Given the description of an element on the screen output the (x, y) to click on. 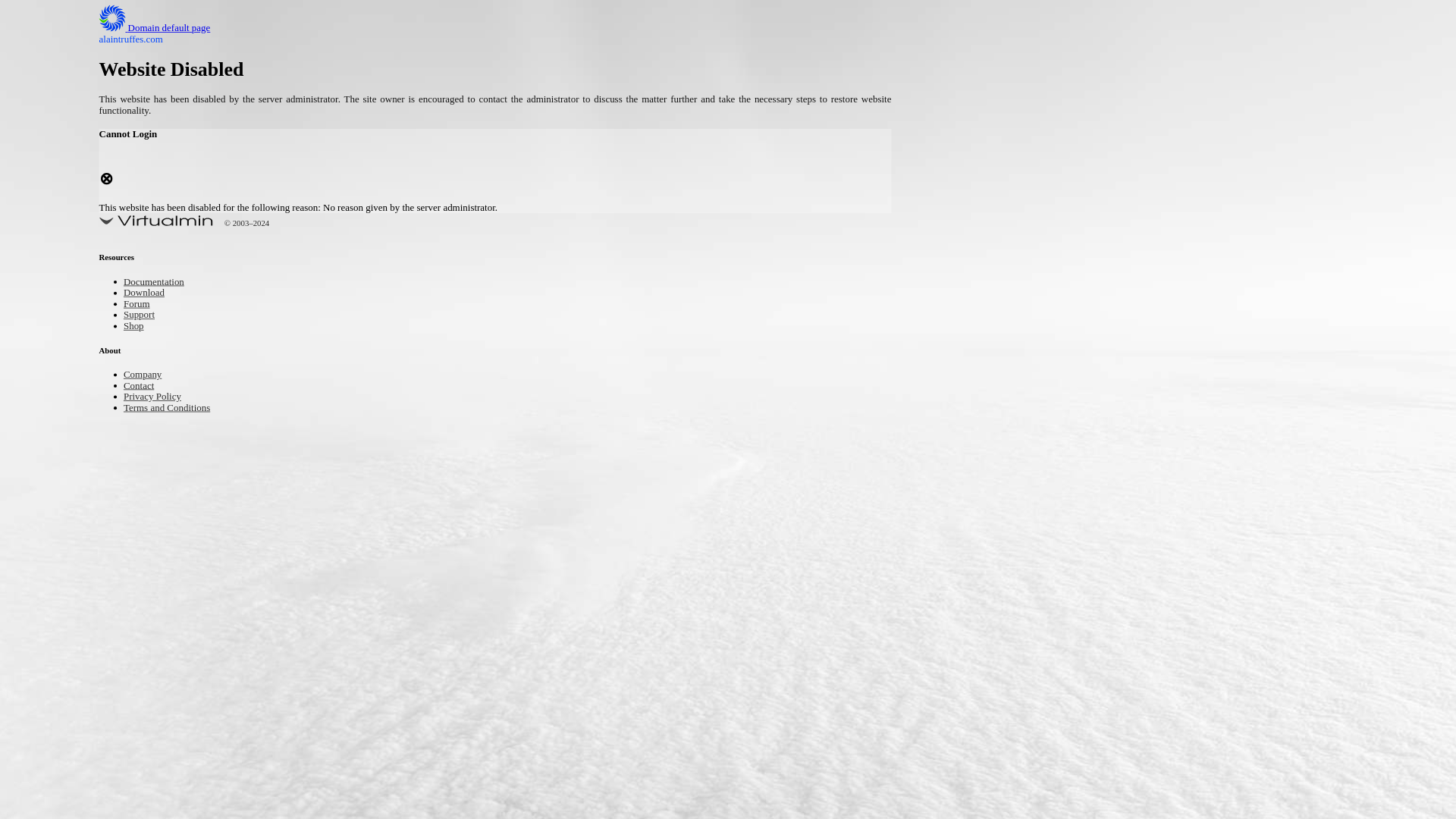
Contact (142, 386)
Terms and Conditions (176, 408)
Support (142, 315)
Forum (139, 305)
Privacy Policy (159, 397)
Company (146, 374)
Shop (135, 327)
Download (148, 293)
Domain default page (167, 29)
Documentation (160, 282)
